Given the description of an element on the screen output the (x, y) to click on. 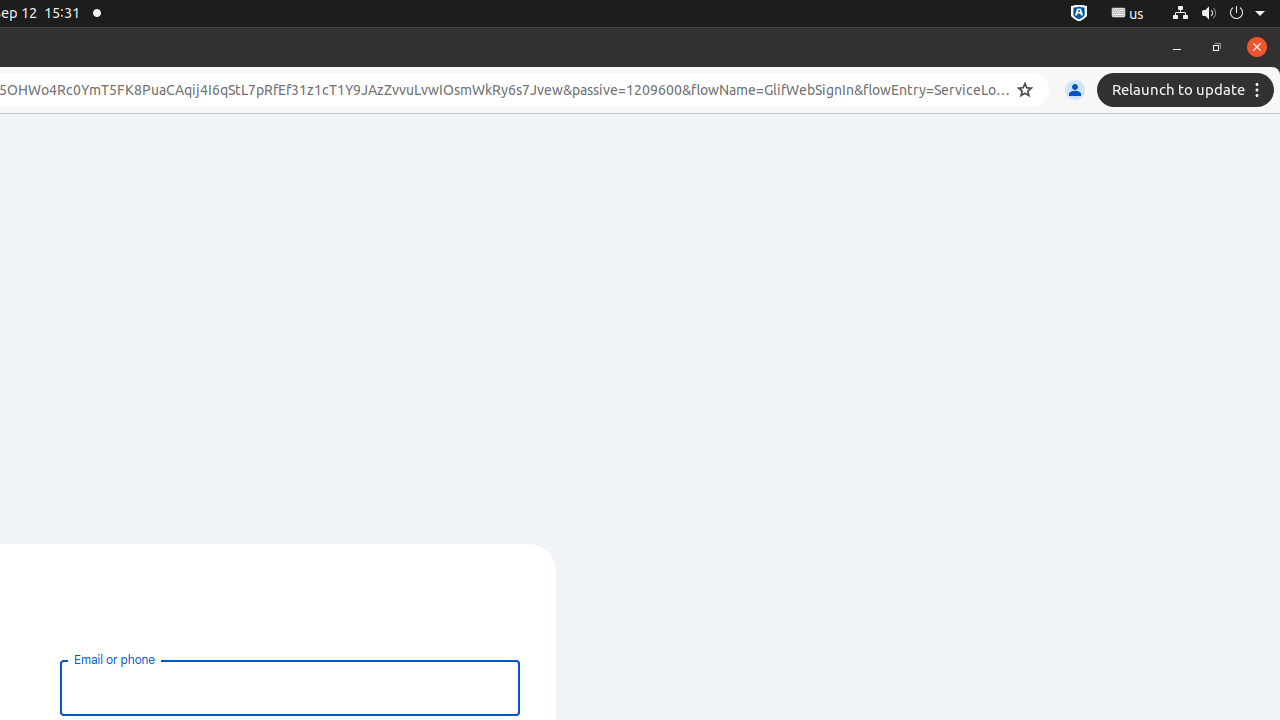
Relaunch to update Element type: push-button (1188, 90)
